Given the description of an element on the screen output the (x, y) to click on. 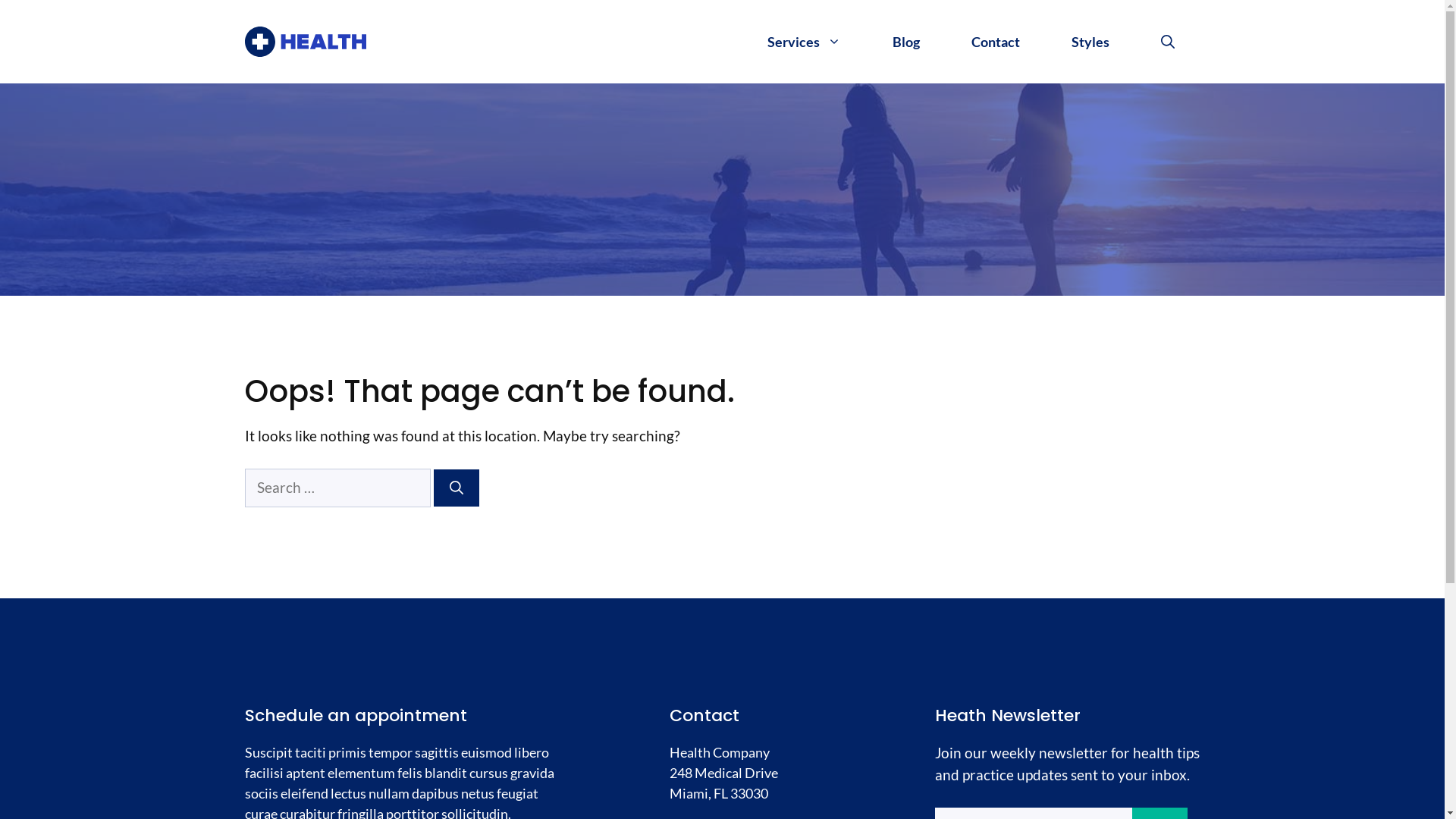
Search for: Element type: hover (336, 487)
Services Element type: text (803, 41)
Contact Element type: text (994, 41)
Blog Element type: text (905, 41)
Styles Element type: text (1089, 41)
